Given the description of an element on the screen output the (x, y) to click on. 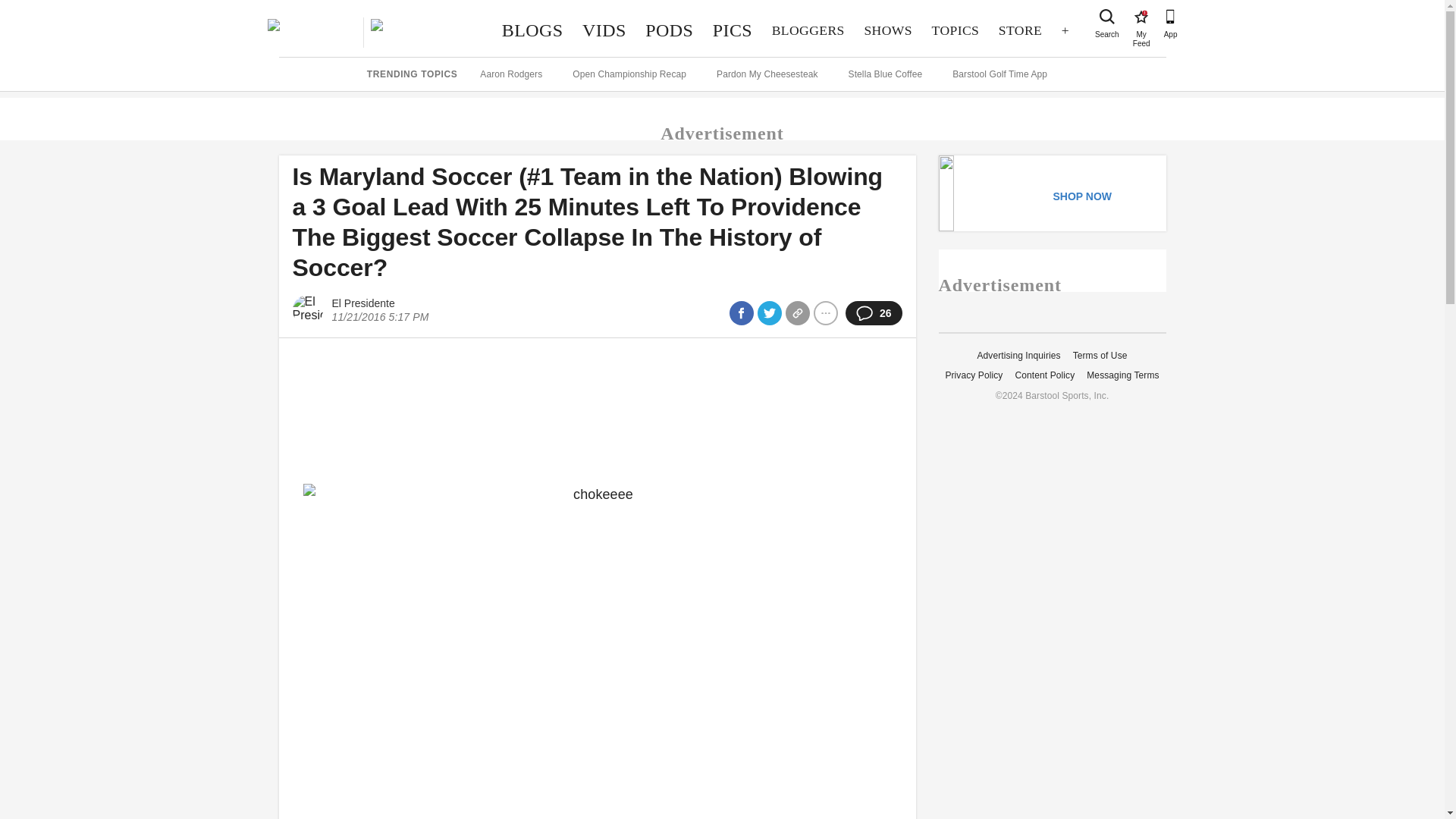
SHOWS (887, 30)
TOPICS (954, 30)
PODS (668, 30)
BLOGGERS (807, 30)
PICS (1141, 16)
Search (732, 30)
BLOGS (1107, 16)
STORE (532, 30)
VIDS (1019, 30)
